Given the description of an element on the screen output the (x, y) to click on. 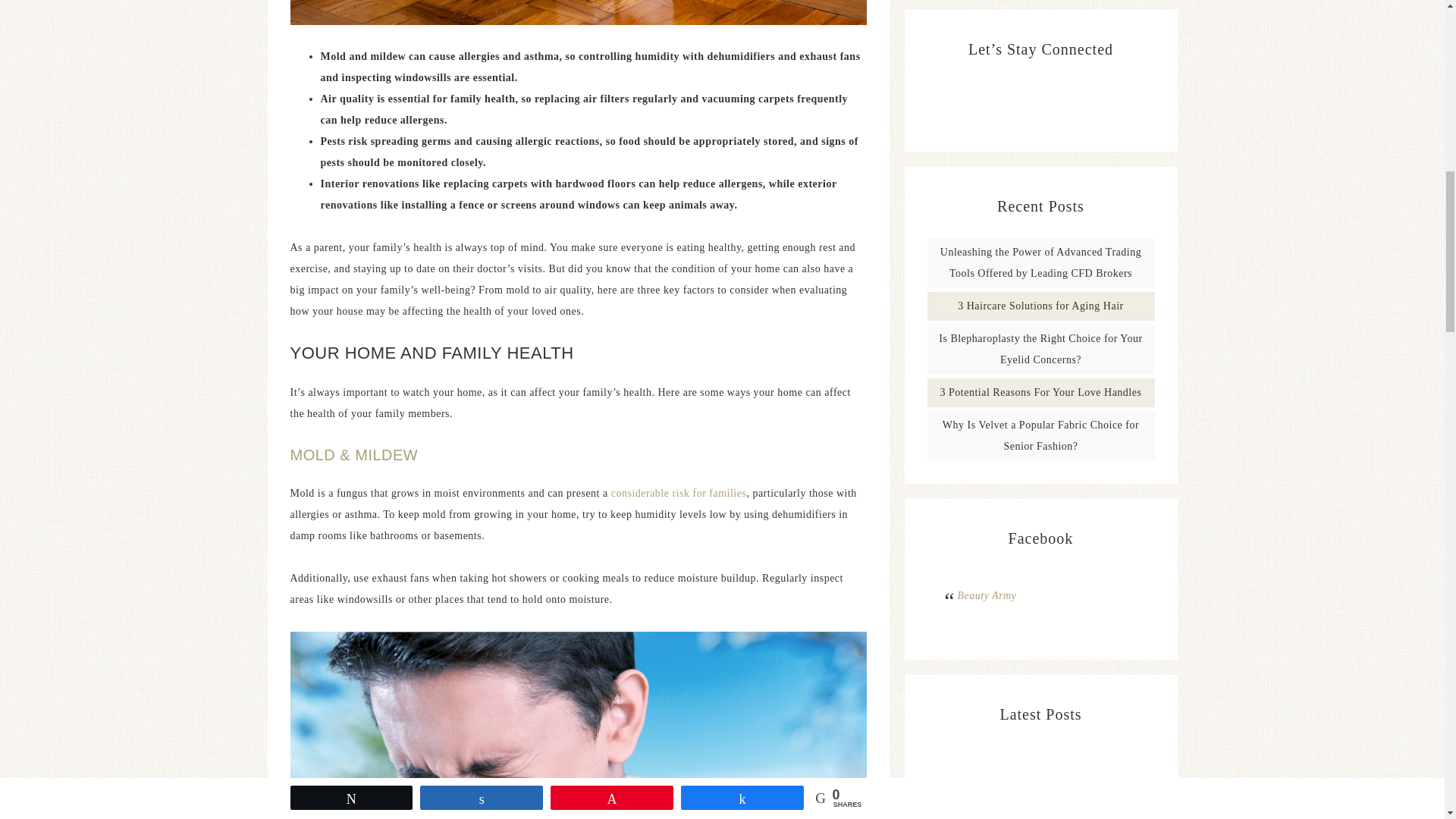
Why Is Velvet a Popular Fabric Choice for Senior Fashion? (1040, 435)
Beauty Army (986, 595)
considerable risk for families (678, 492)
Is Blepharoplasty the Right Choice for Your Eyelid Concerns? (1040, 348)
3 Haircare Solutions for Aging Hair (1041, 306)
3 Potential Reasons For Your Love Handles (1040, 392)
